Given the description of an element on the screen output the (x, y) to click on. 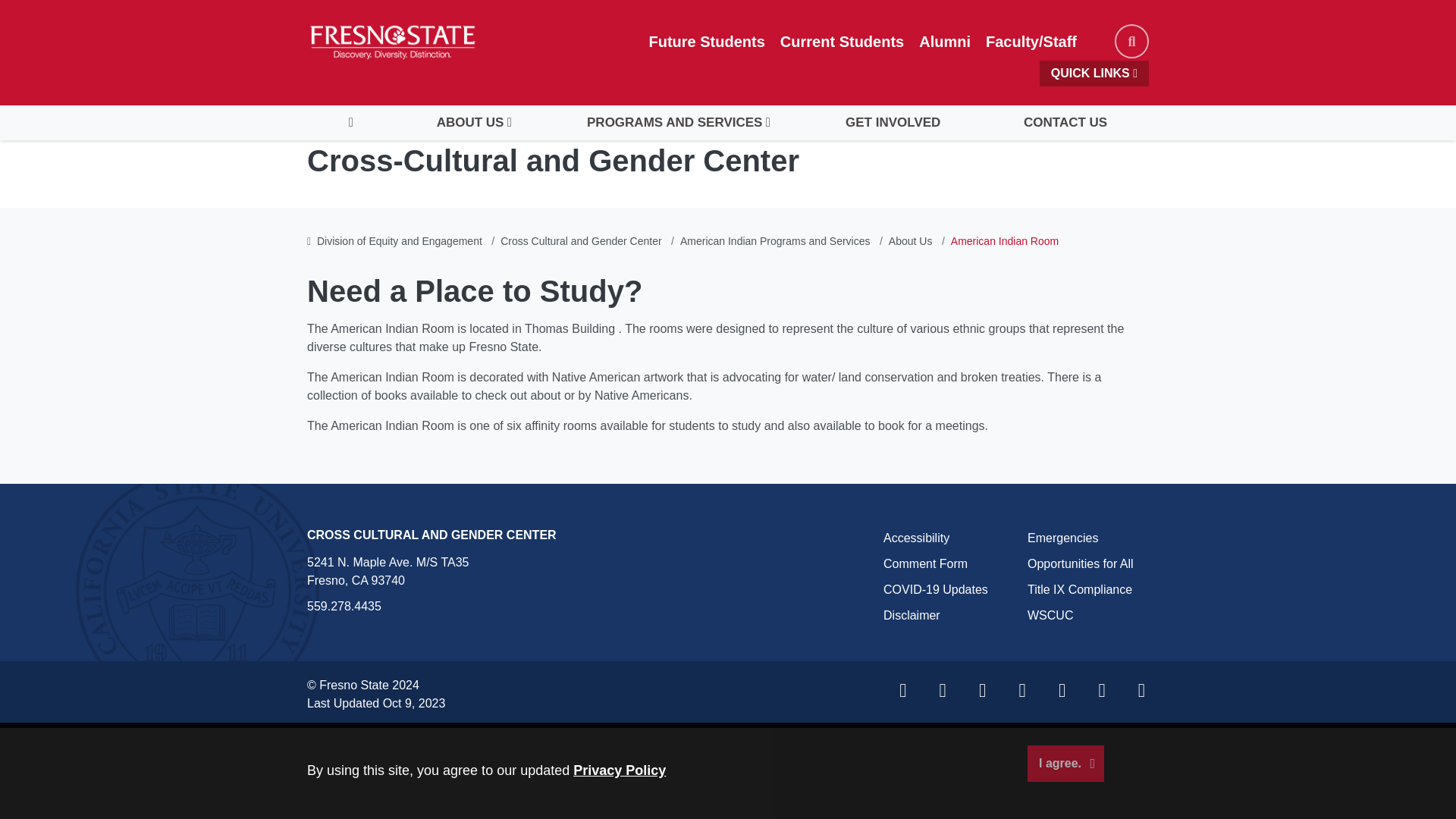
Current Students (842, 41)
ABOUT US (469, 122)
Future Students (707, 41)
PROGRAMS AND SERVICES (673, 122)
Search (1131, 41)
Alumni (944, 41)
Quick Links (1093, 73)
HOME (350, 122)
QUICK LINKS (1093, 73)
Cross Cultural and Gender Center link in the footer section (431, 534)
